Given the description of an element on the screen output the (x, y) to click on. 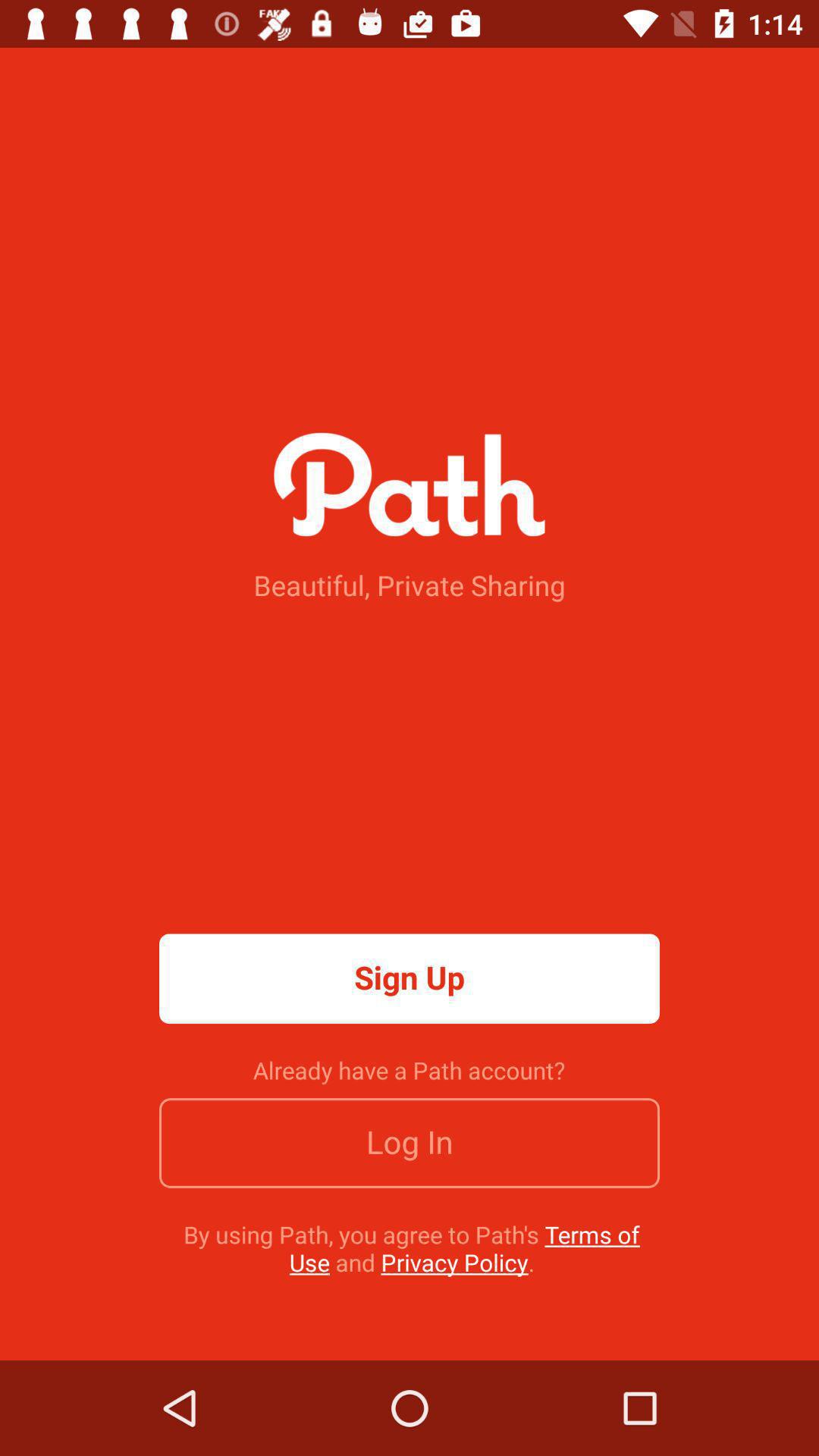
jump to the log in item (409, 1143)
